Given the description of an element on the screen output the (x, y) to click on. 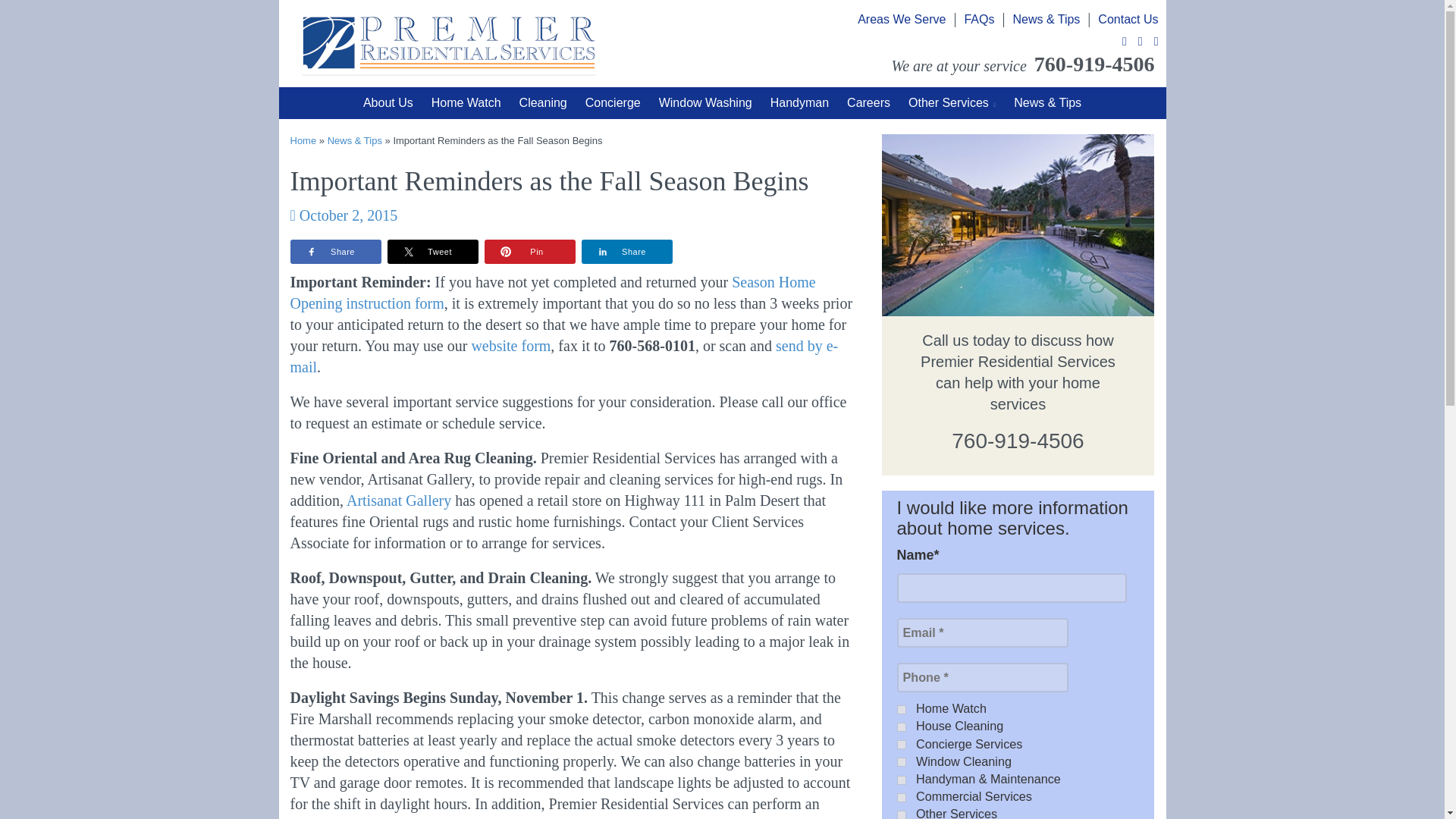
Artisanat Gallery (398, 500)
Other Services (952, 103)
Handyman (798, 103)
760-919-4506 (1017, 440)
send by e-mail (563, 356)
FAQs (978, 19)
Contact Us (1127, 19)
Concierge (612, 103)
About Us (387, 103)
Areas We Serve (900, 19)
